Given the description of an element on the screen output the (x, y) to click on. 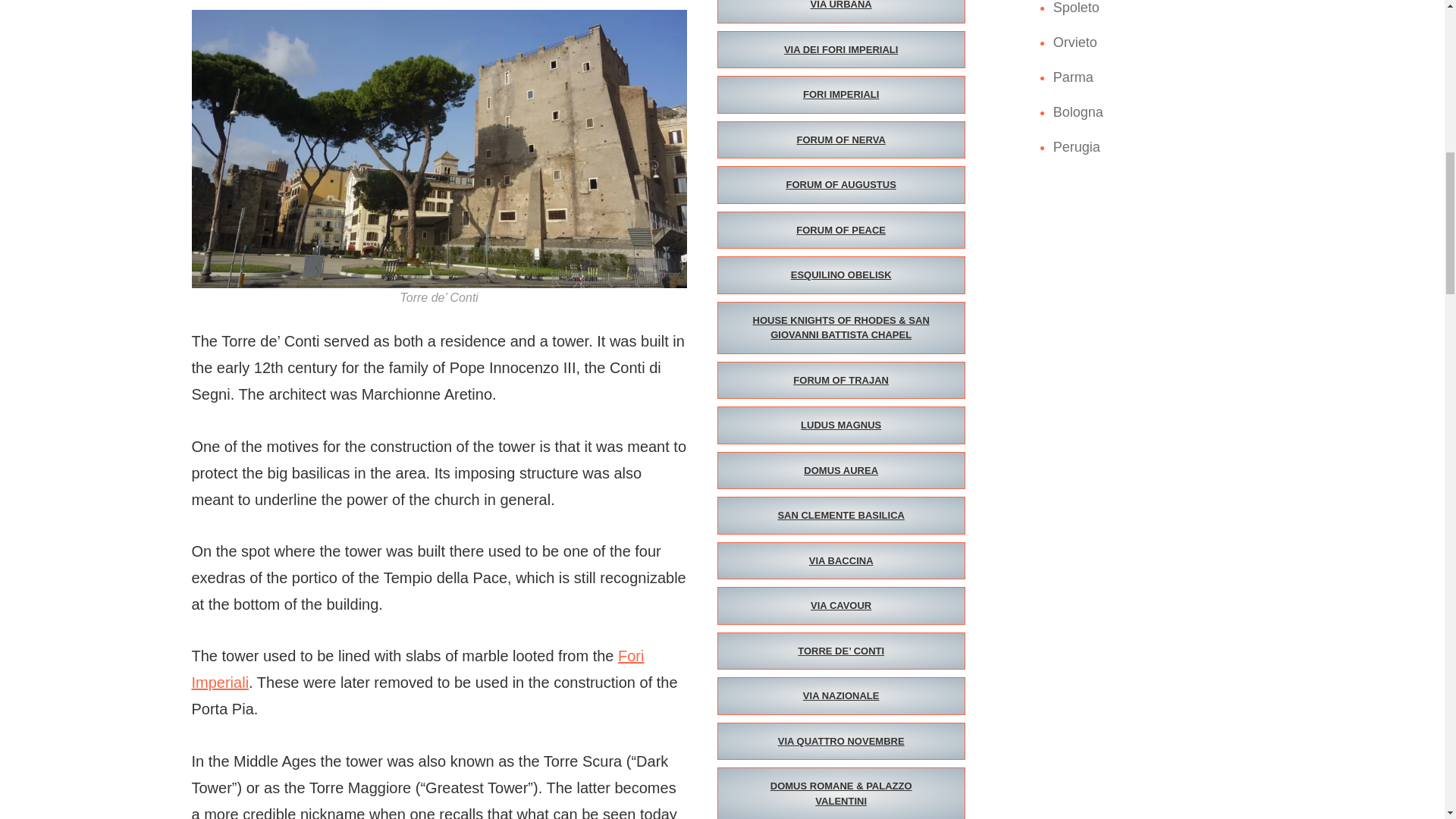
VIA DEI FORI IMPERIALI (841, 49)
FORI IMPERIALI (841, 94)
FORUM OF AUGUSTUS (841, 184)
FORUM OF NERVA (841, 139)
VIA URBANA (841, 11)
ESQUILINO OBELISK (841, 275)
Fori Imperiali (416, 669)
FORUM OF PEACE (841, 230)
